Given the description of an element on the screen output the (x, y) to click on. 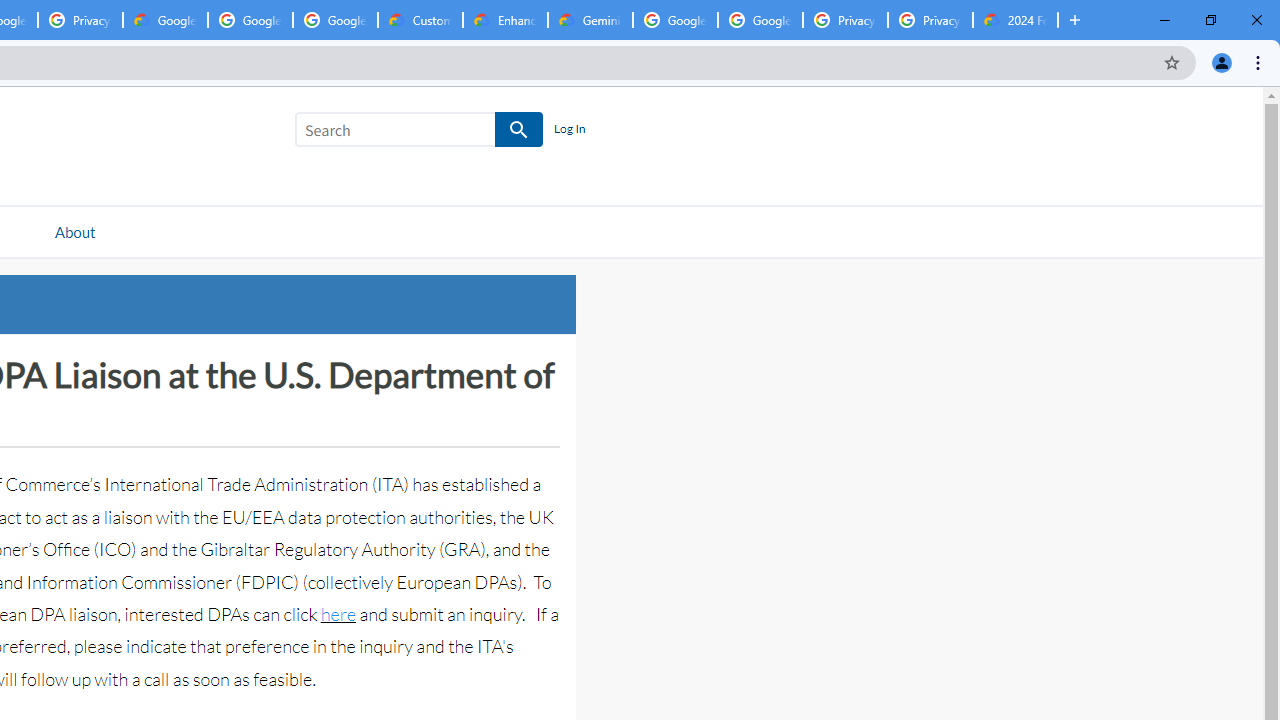
Google Workspace - Specific Terms (250, 20)
here (337, 614)
SEARCH (519, 130)
Google Cloud Platform (760, 20)
Log In (569, 129)
Gemini for Business and Developers | Google Cloud (590, 20)
Google Cloud Terms Directory | Google Cloud (165, 20)
Customer Care | Google Cloud (420, 20)
